Given the description of an element on the screen output the (x, y) to click on. 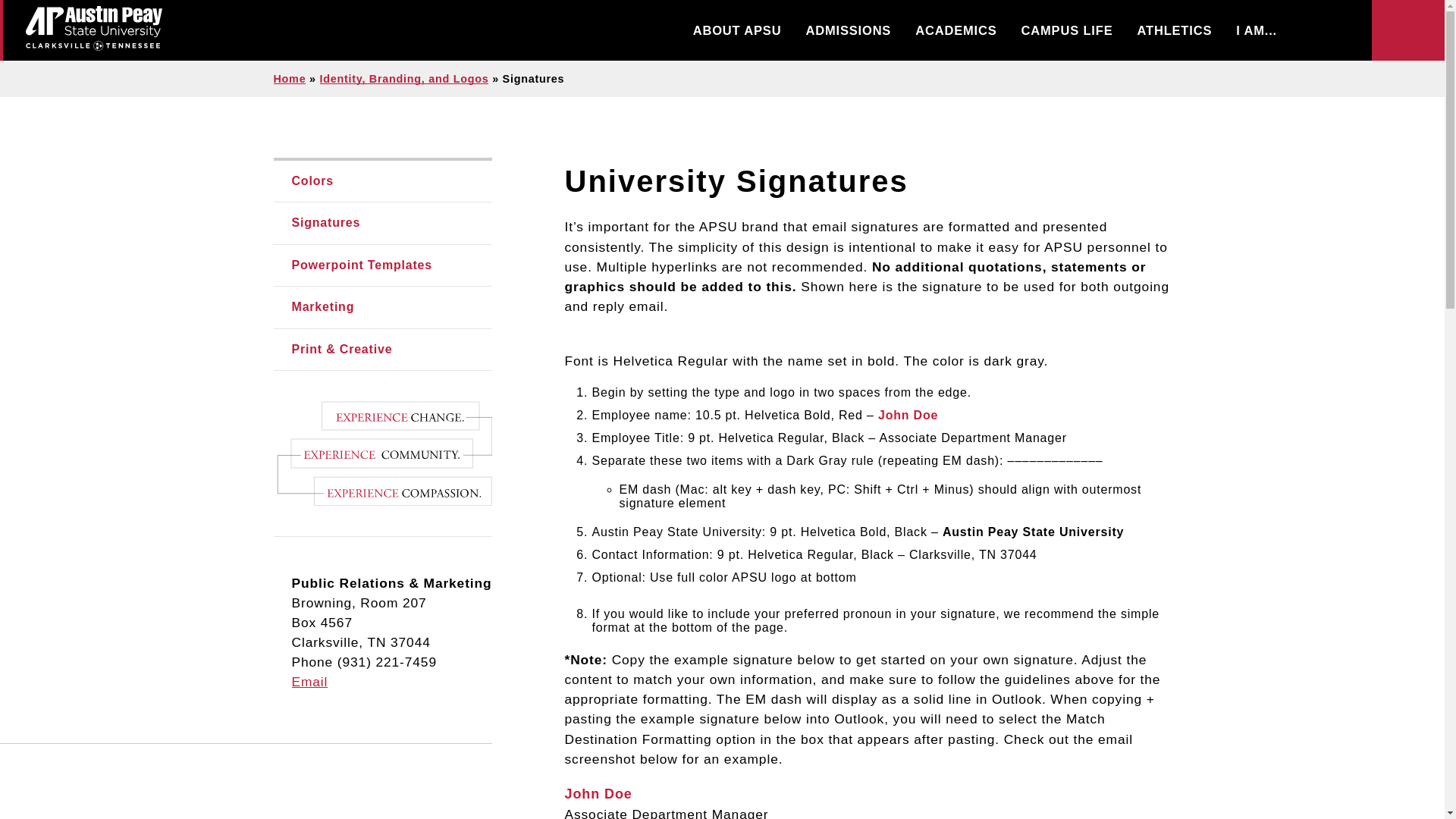
ACADEMICS (955, 30)
ADMISSIONS (848, 30)
About (737, 30)
ABOUT APSU (737, 30)
